Given the description of an element on the screen output the (x, y) to click on. 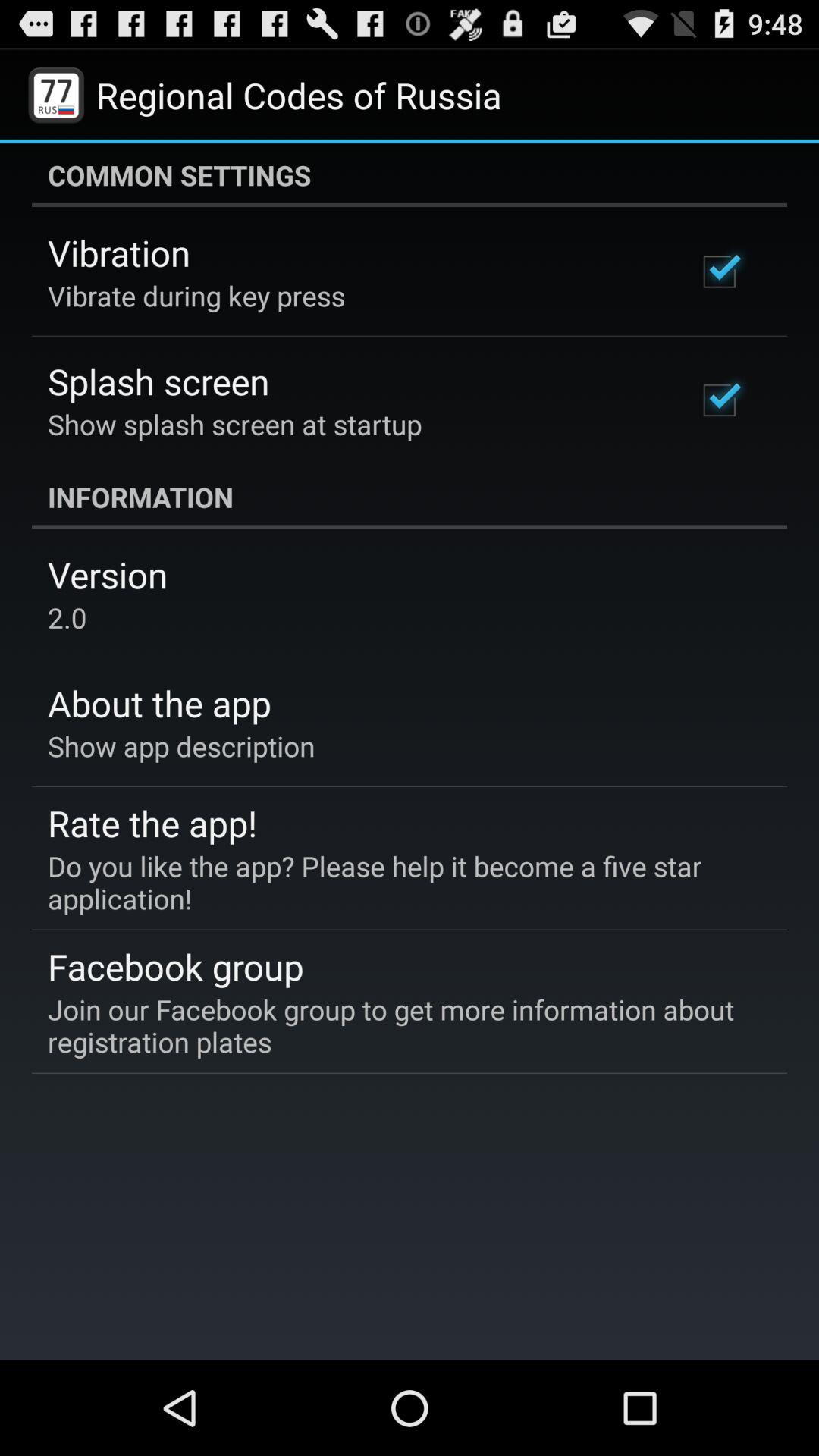
flip to the common settings item (409, 175)
